Given the description of an element on the screen output the (x, y) to click on. 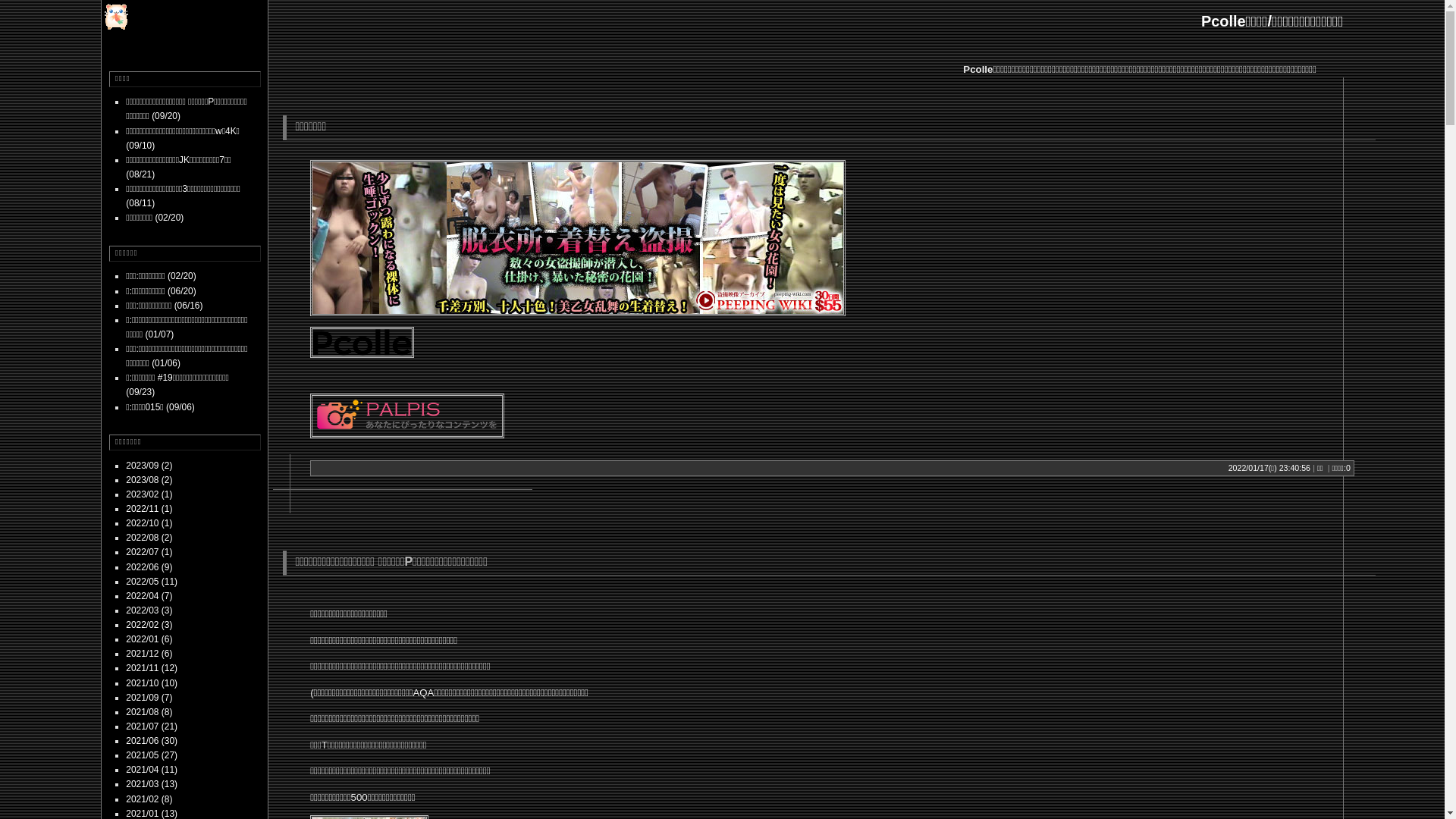
2021/03 (13) Element type: text (151, 783)
2022/02 (3) Element type: text (148, 624)
2021/07 (21) Element type: text (151, 726)
2021/08 (8) Element type: text (148, 711)
2021/11 (12) Element type: text (151, 667)
2022/10 (1) Element type: text (148, 522)
2021/10 (10) Element type: text (151, 682)
2022/07 (1) Element type: text (148, 551)
2022/04 (7) Element type: text (148, 595)
2022/03 (3) Element type: text (148, 610)
2021/05 (27) Element type: text (151, 754)
2023/02 (1) Element type: text (148, 494)
2022/11 (1) Element type: text (148, 508)
2021/06 (30) Element type: text (151, 740)
2022/08 (2) Element type: text (148, 537)
2021/12 (6) Element type: text (148, 653)
2022/01 (6) Element type: text (148, 638)
2022/06 (9) Element type: text (148, 566)
2021/02 (8) Element type: text (148, 798)
2021/09 (7) Element type: text (148, 697)
2023/08 (2) Element type: text (148, 479)
2021/04 (11) Element type: text (151, 769)
2022/05 (11) Element type: text (151, 581)
2023/09 (2) Element type: text (148, 465)
